Given the description of an element on the screen output the (x, y) to click on. 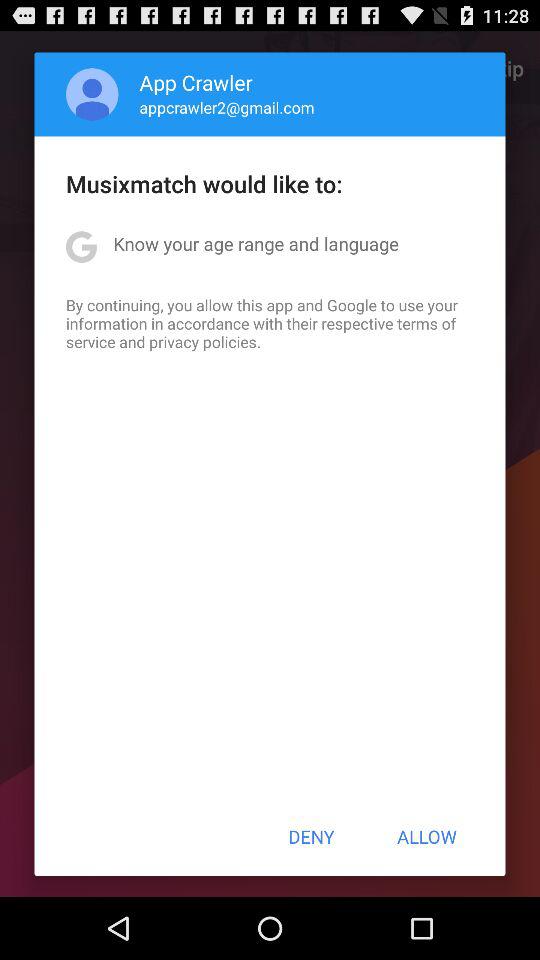
click button next to the allow button (311, 836)
